Given the description of an element on the screen output the (x, y) to click on. 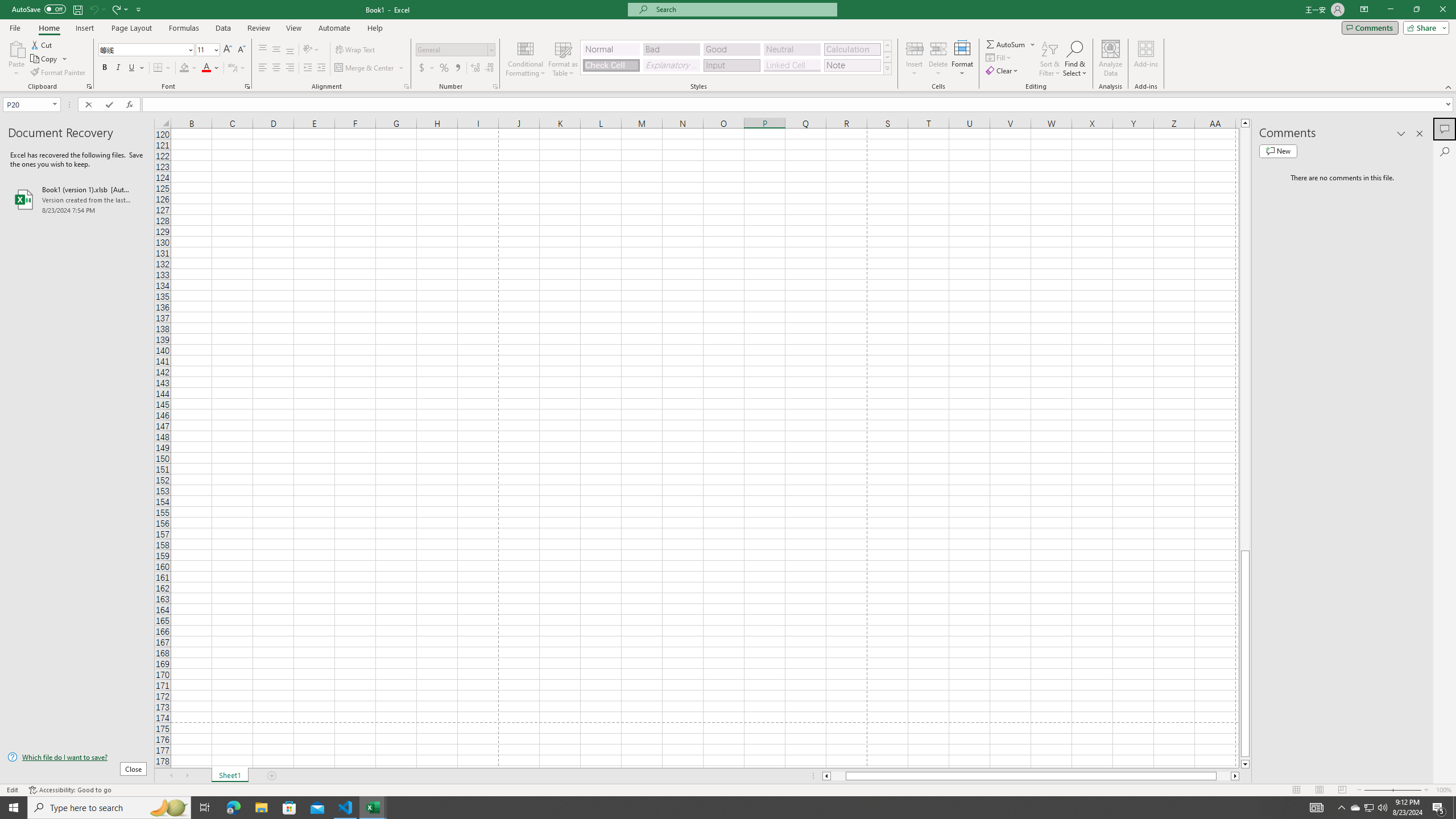
Top Align (262, 49)
Delete (938, 58)
Show Phonetic Field (231, 67)
Insert Cells (914, 48)
Format Cell Font (247, 85)
